Given the description of an element on the screen output the (x, y) to click on. 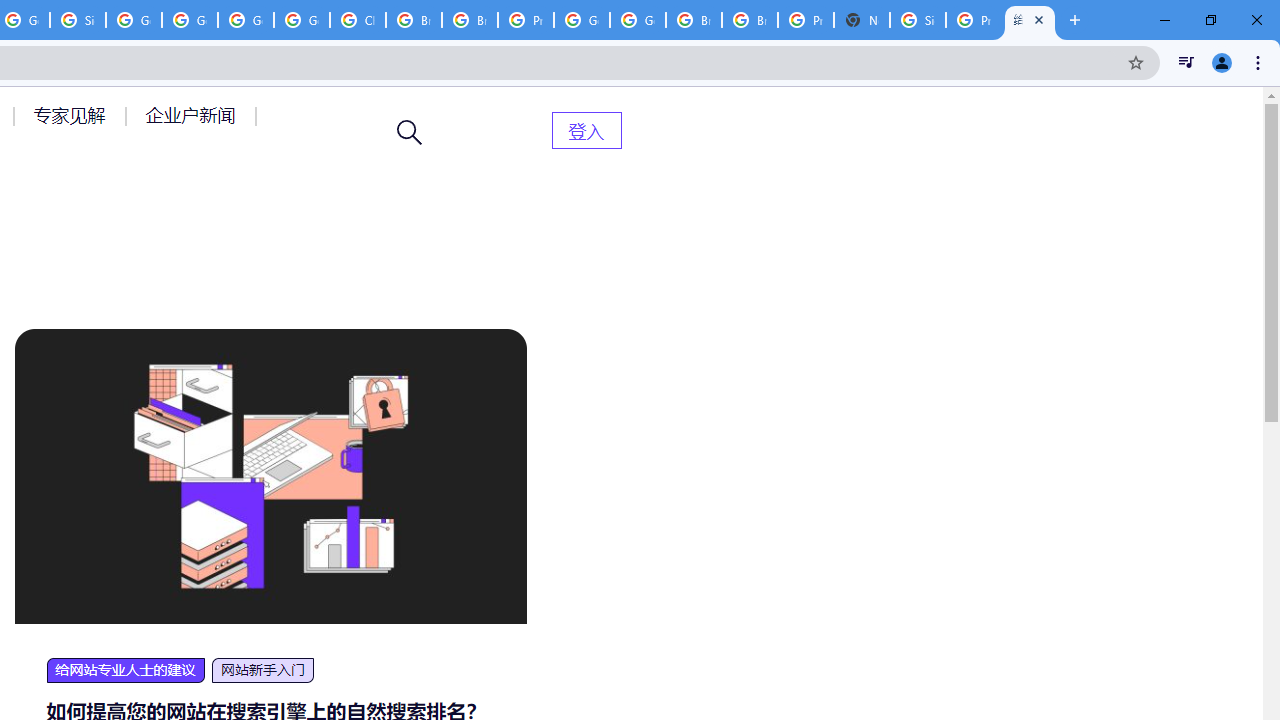
AutomationID: menu-item-77764 (72, 115)
AutomationID: menu-item-77765 (194, 115)
Control your music, videos, and more (1185, 62)
Open search form (410, 132)
Google Cloud Platform (245, 20)
Sign in - Google Accounts (917, 20)
Browse Chrome as a guest - Computer - Google Chrome Help (413, 20)
